Given the description of an element on the screen output the (x, y) to click on. 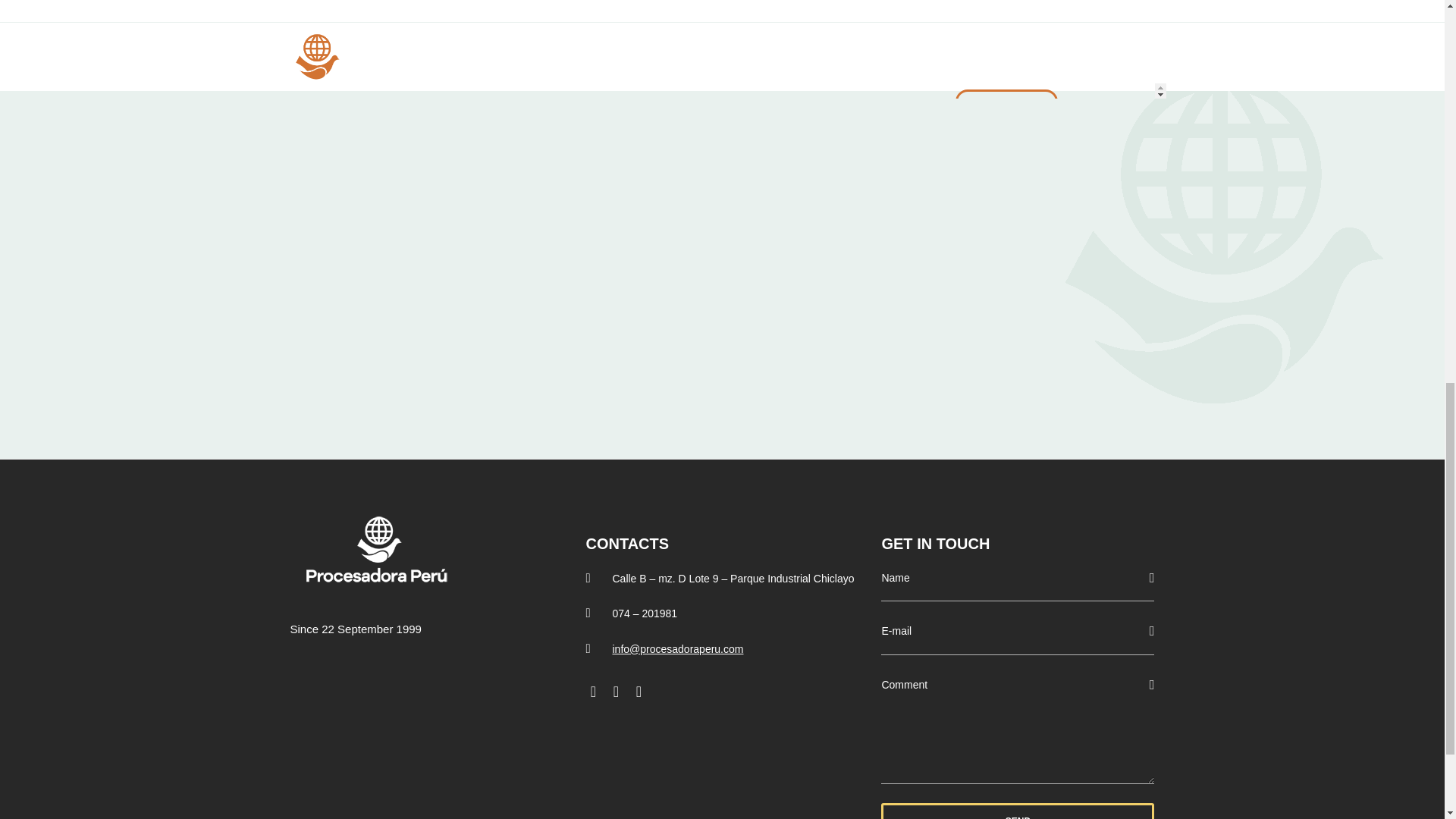
Send (1017, 811)
Send (1017, 811)
